Given the description of an element on the screen output the (x, y) to click on. 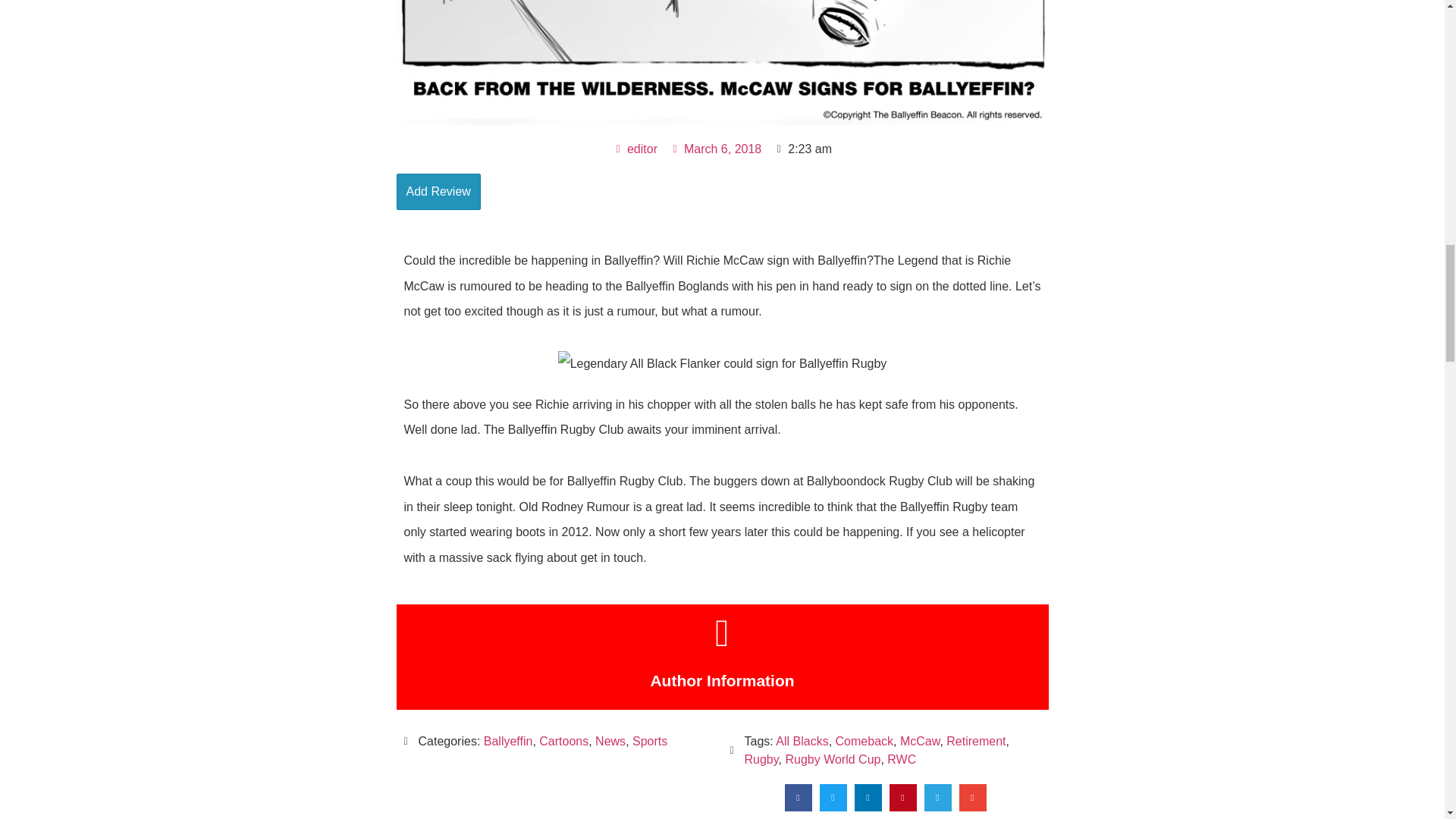
editor (635, 149)
RWC (900, 758)
Rugby (761, 758)
McCaw (919, 740)
All Blacks (802, 740)
March 6, 2018 (715, 149)
Retirement (976, 740)
Add Review (438, 191)
News (610, 740)
Ballyeffin (507, 740)
